Given the description of an element on the screen output the (x, y) to click on. 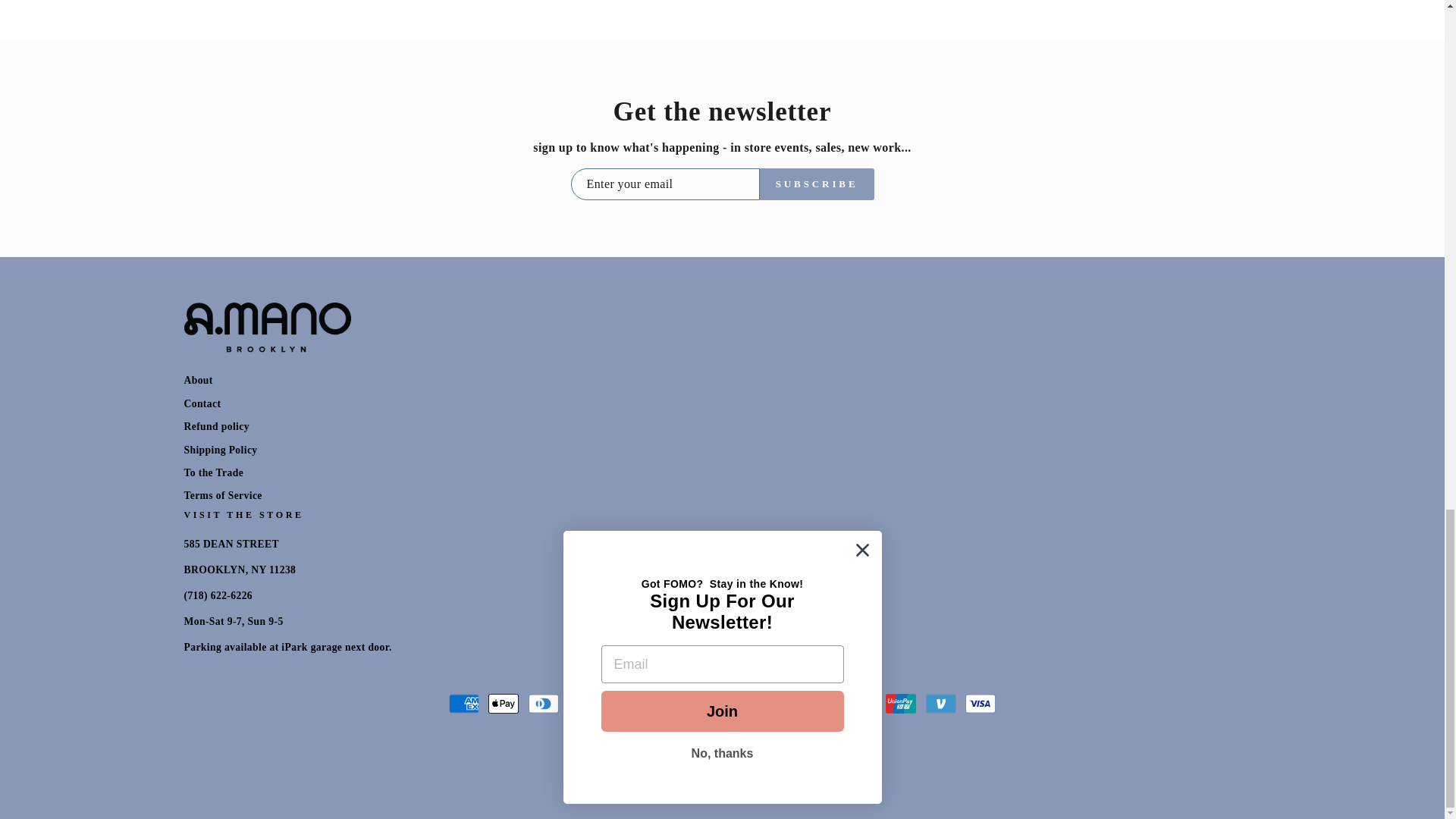
American Express (463, 703)
Diners Club (543, 703)
Google Pay (662, 703)
Discover (582, 703)
Apple Pay (502, 703)
Meta Pay (622, 703)
JCB (702, 703)
